Given the description of an element on the screen output the (x, y) to click on. 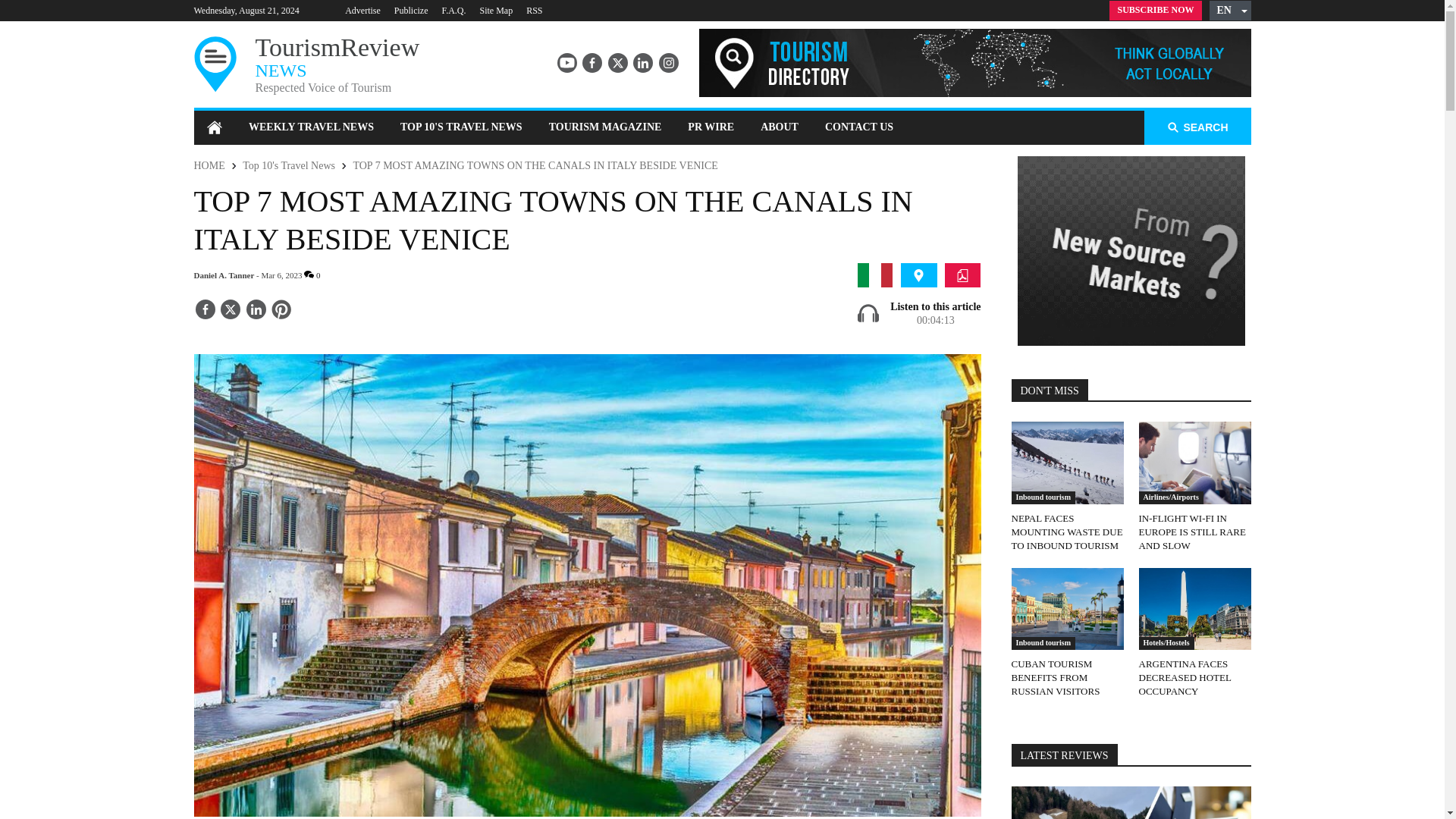
HOME (209, 165)
Top 10's Travel News (288, 165)
WEEKLY TRAVEL NEWS (310, 127)
PR WIRE (711, 127)
Destination news, destination travel (918, 275)
Site Map (495, 9)
TOURISM MAGAZINE (605, 127)
F.A.Q. (453, 9)
